Given the description of an element on the screen output the (x, y) to click on. 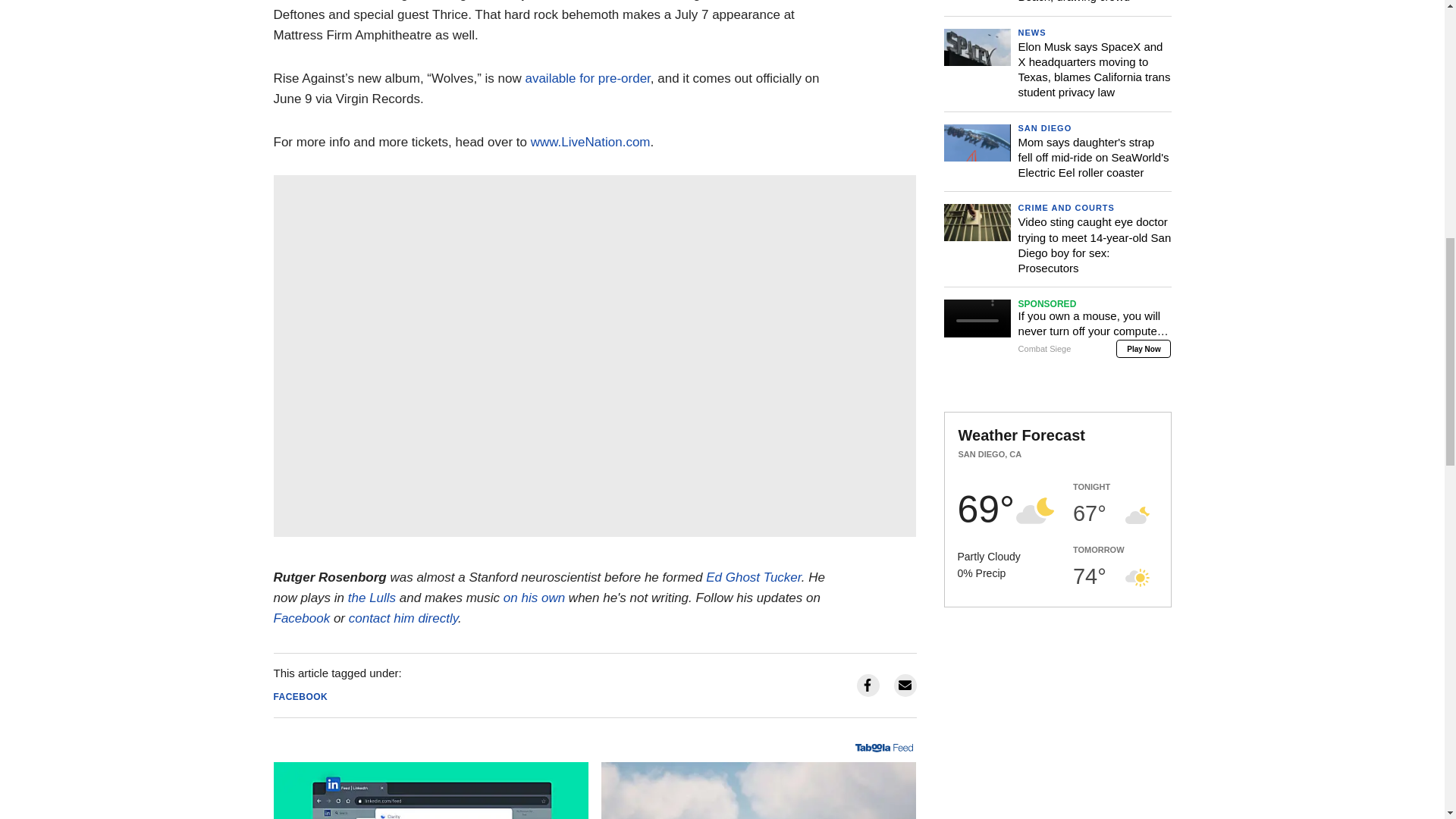
the Lulls (371, 597)
on his own (533, 597)
Facebook (301, 617)
Clear, Compelling Writing in Seconds With This Desktop App (430, 790)
Ed Ghost Tucker (754, 577)
contact him directly (403, 617)
www.LiveNation.com (590, 142)
available for pre-order (586, 78)
